Given the description of an element on the screen output the (x, y) to click on. 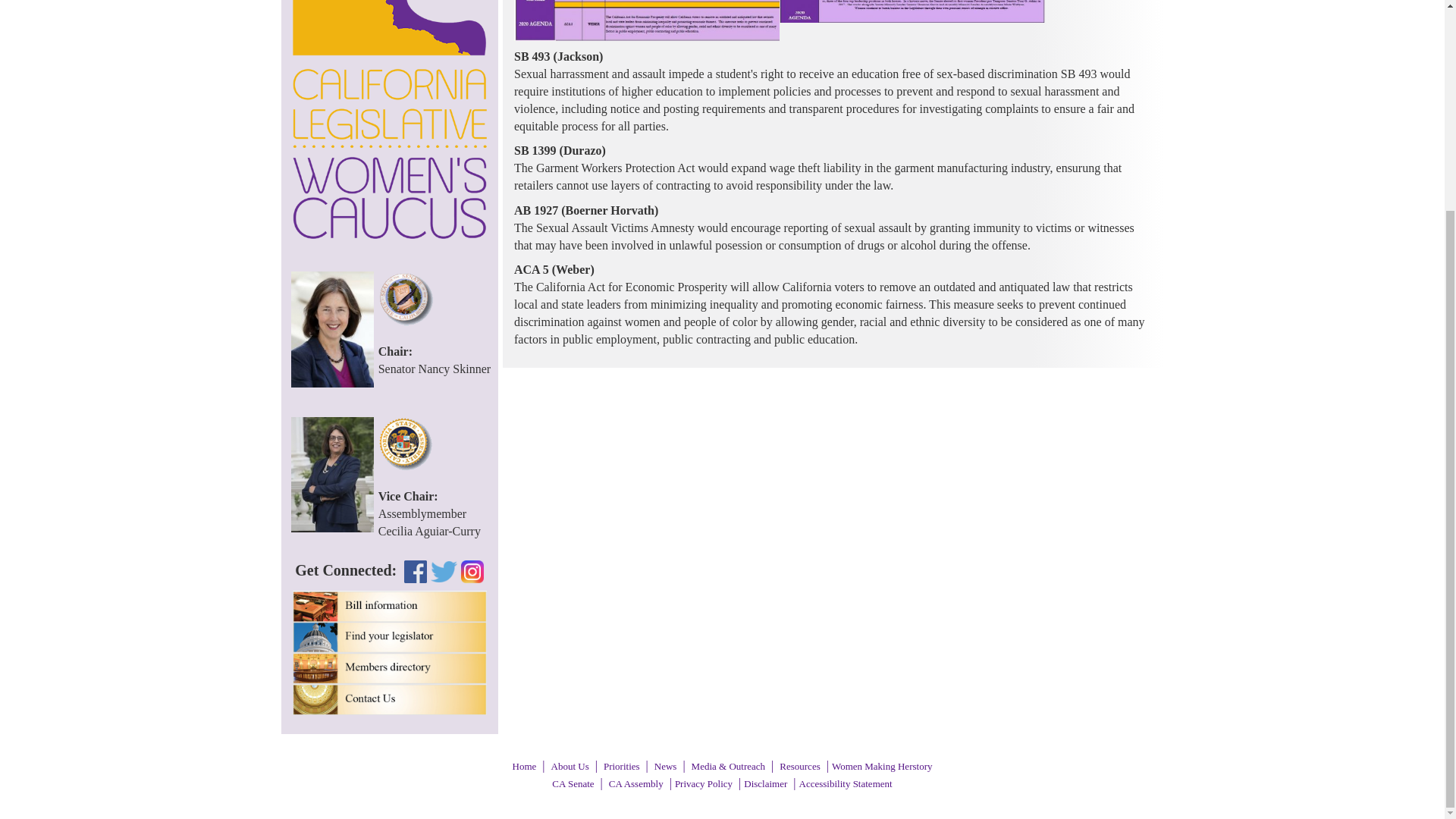
Resources (798, 766)
Priorities (622, 766)
Home (524, 766)
About Us (570, 766)
News (665, 766)
